Given the description of an element on the screen output the (x, y) to click on. 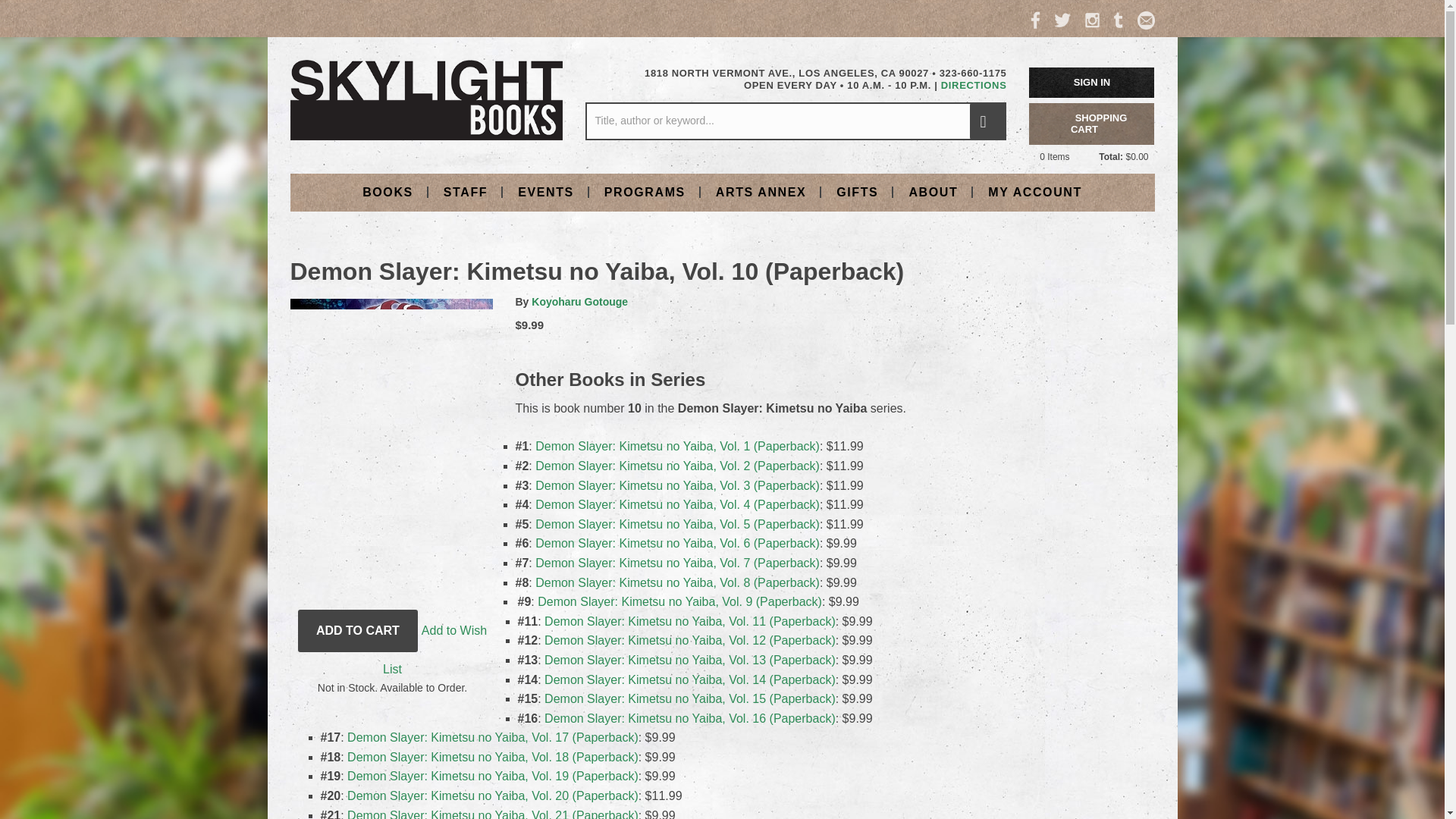
BOOKS (387, 191)
GIFTS (857, 191)
DIRECTIONS (973, 84)
STAFF (465, 191)
SIGN IN (1091, 81)
Add to Cart (357, 630)
search (987, 121)
Title, author or keyword... (795, 121)
EVENTS (545, 191)
